Given the description of an element on the screen output the (x, y) to click on. 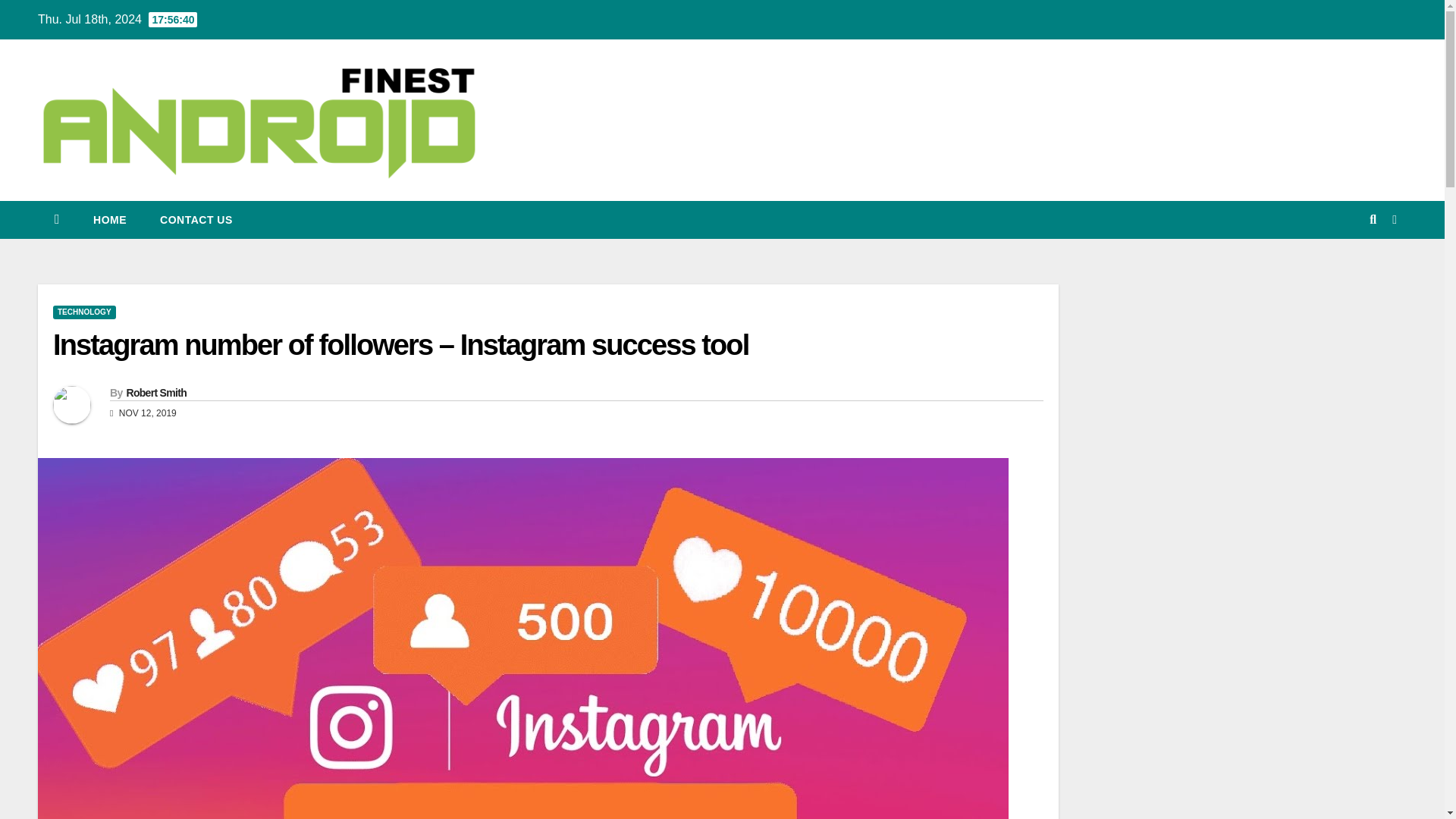
Contact us (195, 219)
CONTACT US (195, 219)
TECHNOLOGY (84, 312)
HOME (109, 219)
Home (109, 219)
Robert Smith (155, 392)
